Given the description of an element on the screen output the (x, y) to click on. 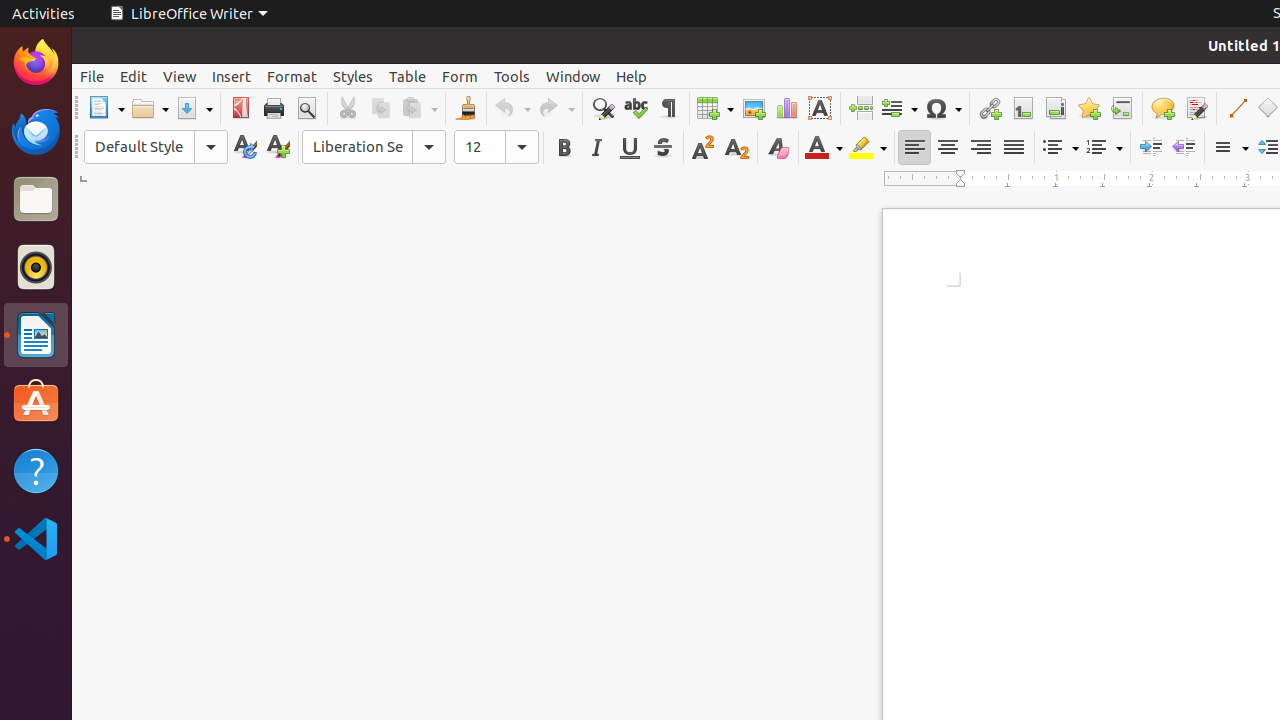
Superscript Element type: toggle-button (703, 147)
Line Spacing Element type: push-button (1230, 147)
Line Element type: toggle-button (1236, 108)
Tools Element type: menu (512, 76)
LibreOffice Writer Element type: menu (188, 13)
